Given the description of an element on the screen output the (x, y) to click on. 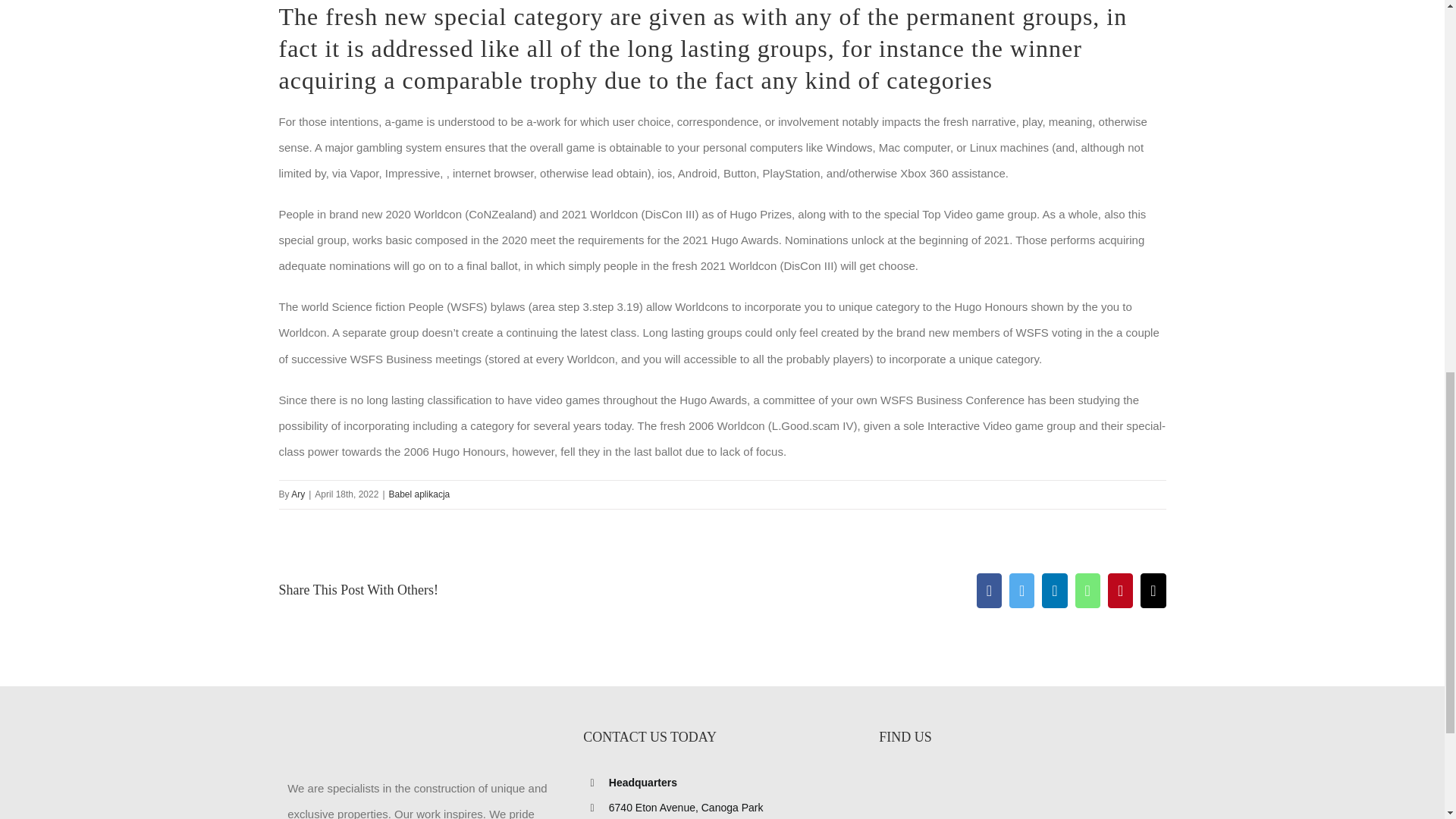
Posts by Ary (297, 493)
Ary (297, 493)
size400logo principal (391, 736)
Babel aplikacja (418, 493)
